Given the description of an element on the screen output the (x, y) to click on. 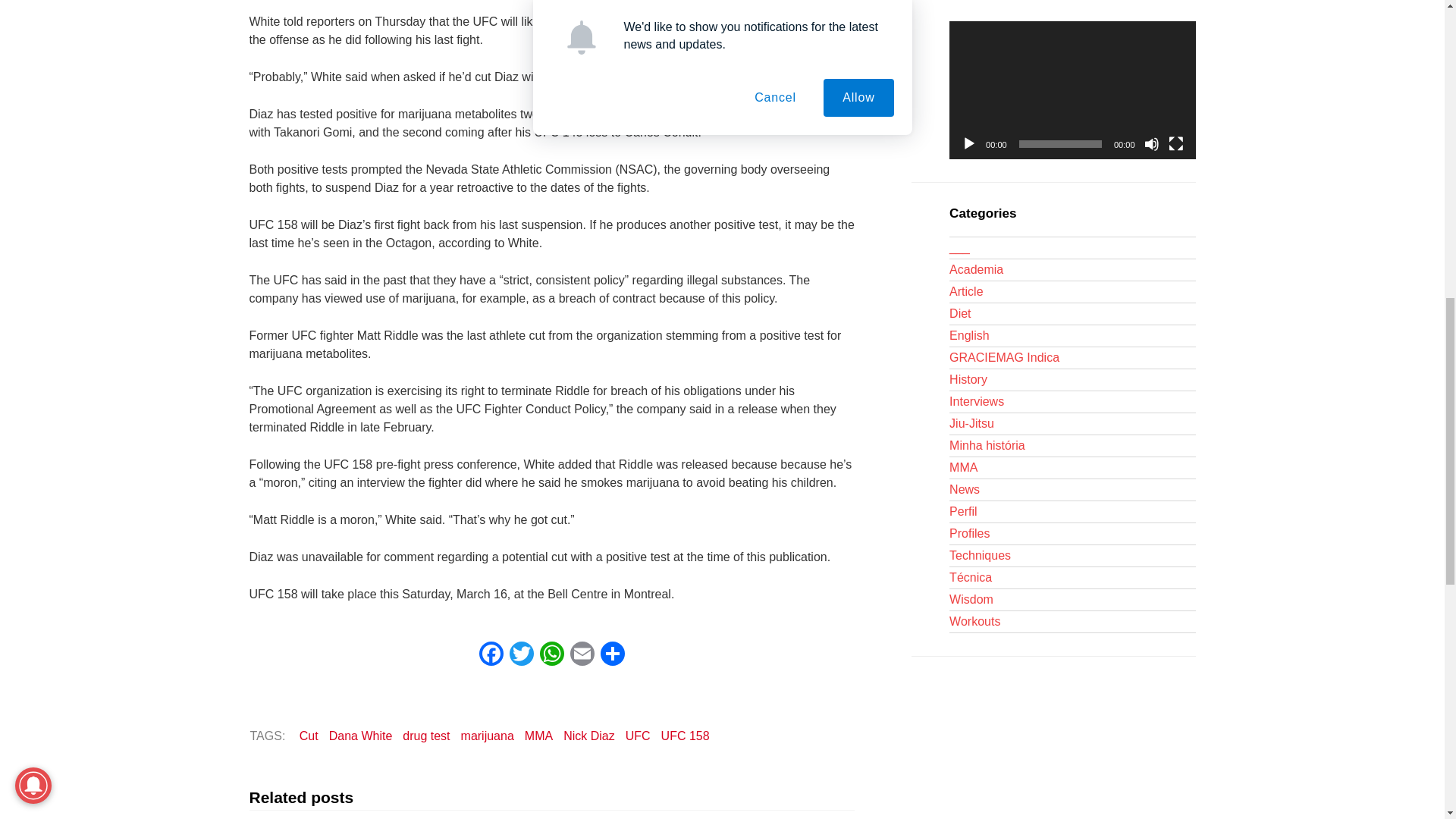
MMA (538, 735)
WhatsApp (552, 655)
drug test (425, 735)
Email (581, 655)
WhatsApp (552, 655)
UFC 158 (685, 735)
Twitter (521, 655)
Facebook (491, 655)
Twitter (521, 655)
Email (581, 655)
Facebook (491, 655)
Cut (308, 735)
Nick Diaz (588, 735)
UFC (638, 735)
Share (611, 655)
